Given the description of an element on the screen output the (x, y) to click on. 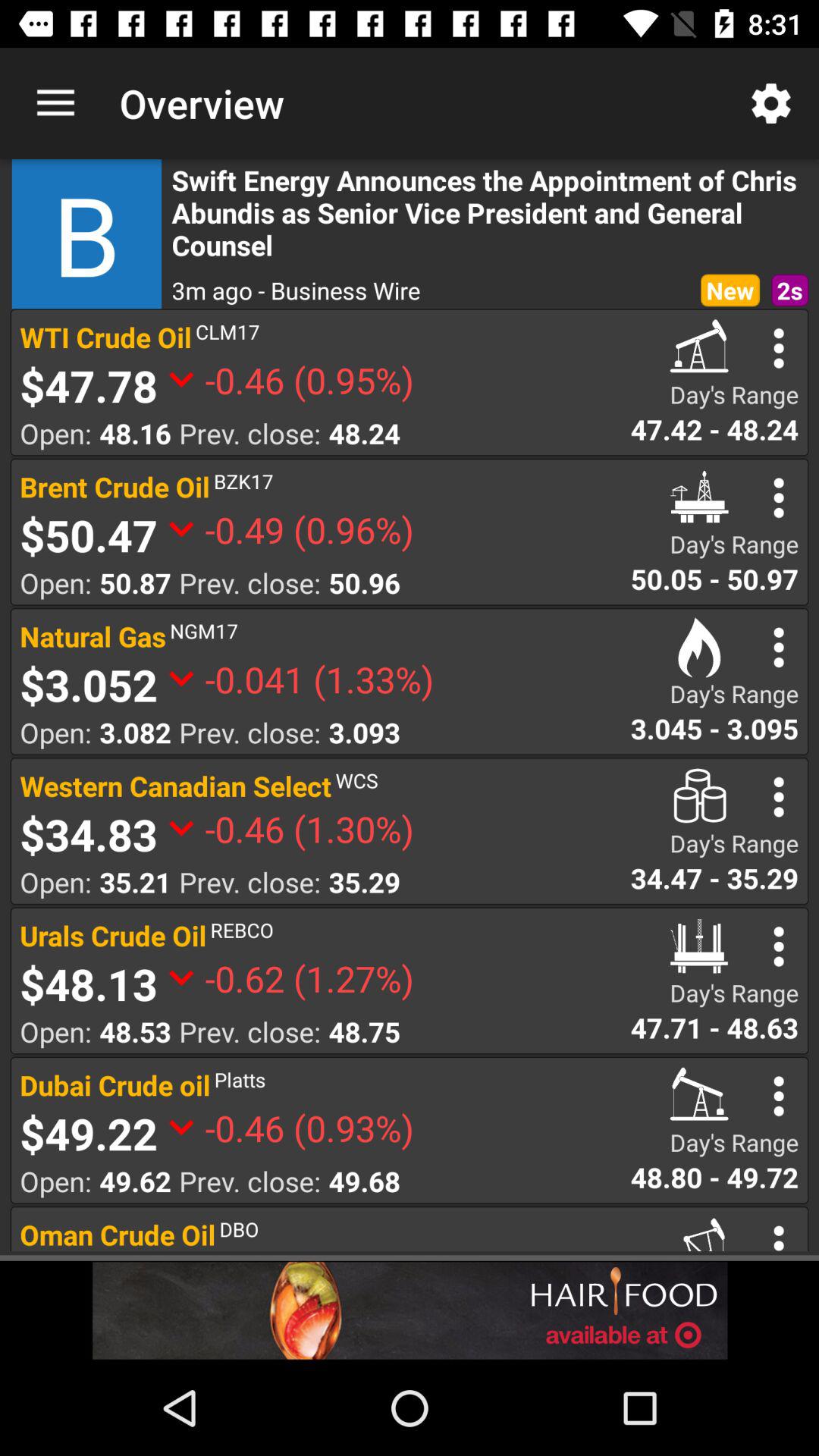
options (778, 796)
